Given the description of an element on the screen output the (x, y) to click on. 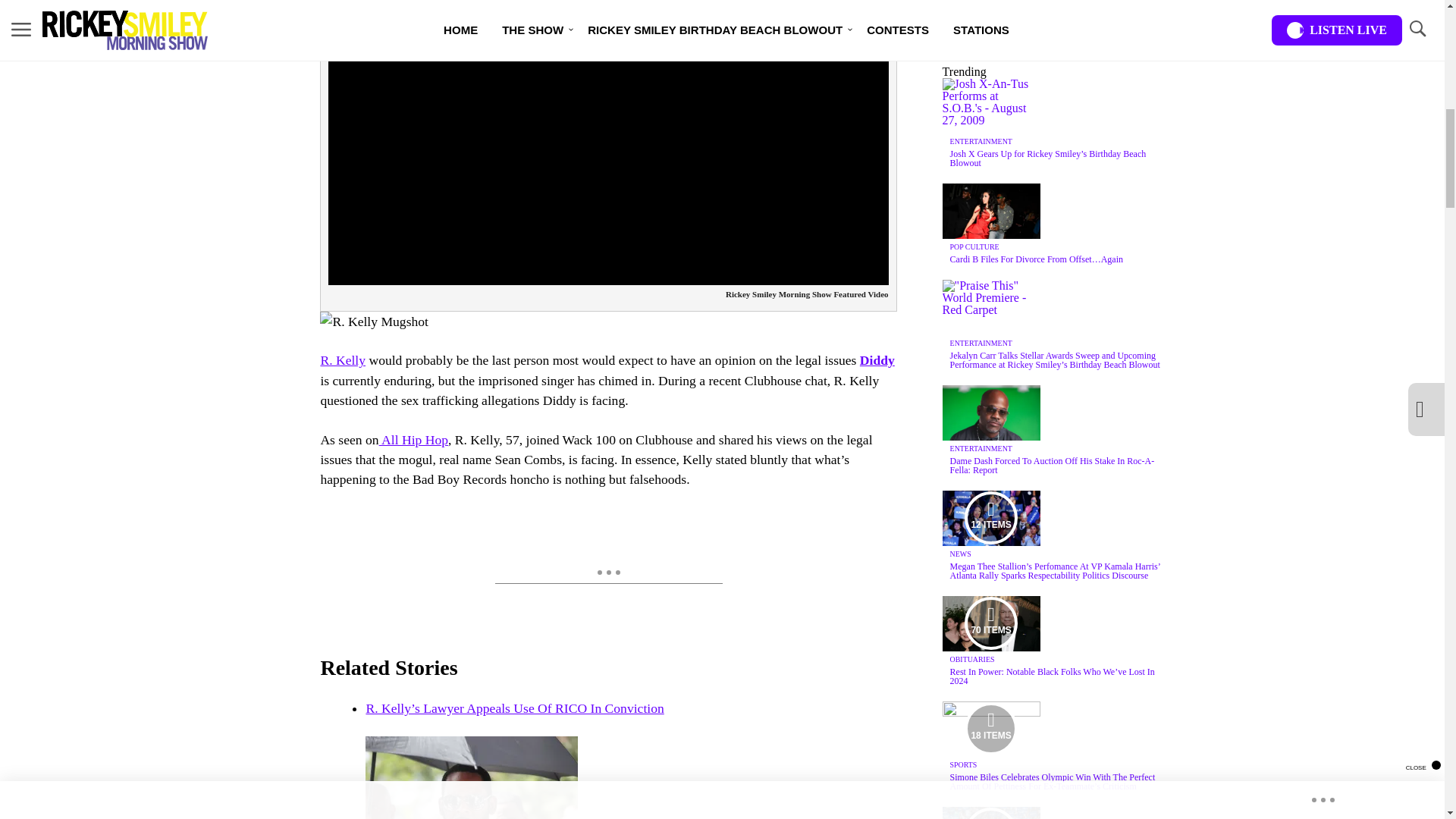
Media Playlist (990, 623)
R. Kelly (342, 359)
Diddy (877, 359)
Media Playlist (990, 728)
Media Playlist (990, 813)
Media Playlist (990, 517)
All Hip Hop (413, 439)
